Given the description of an element on the screen output the (x, y) to click on. 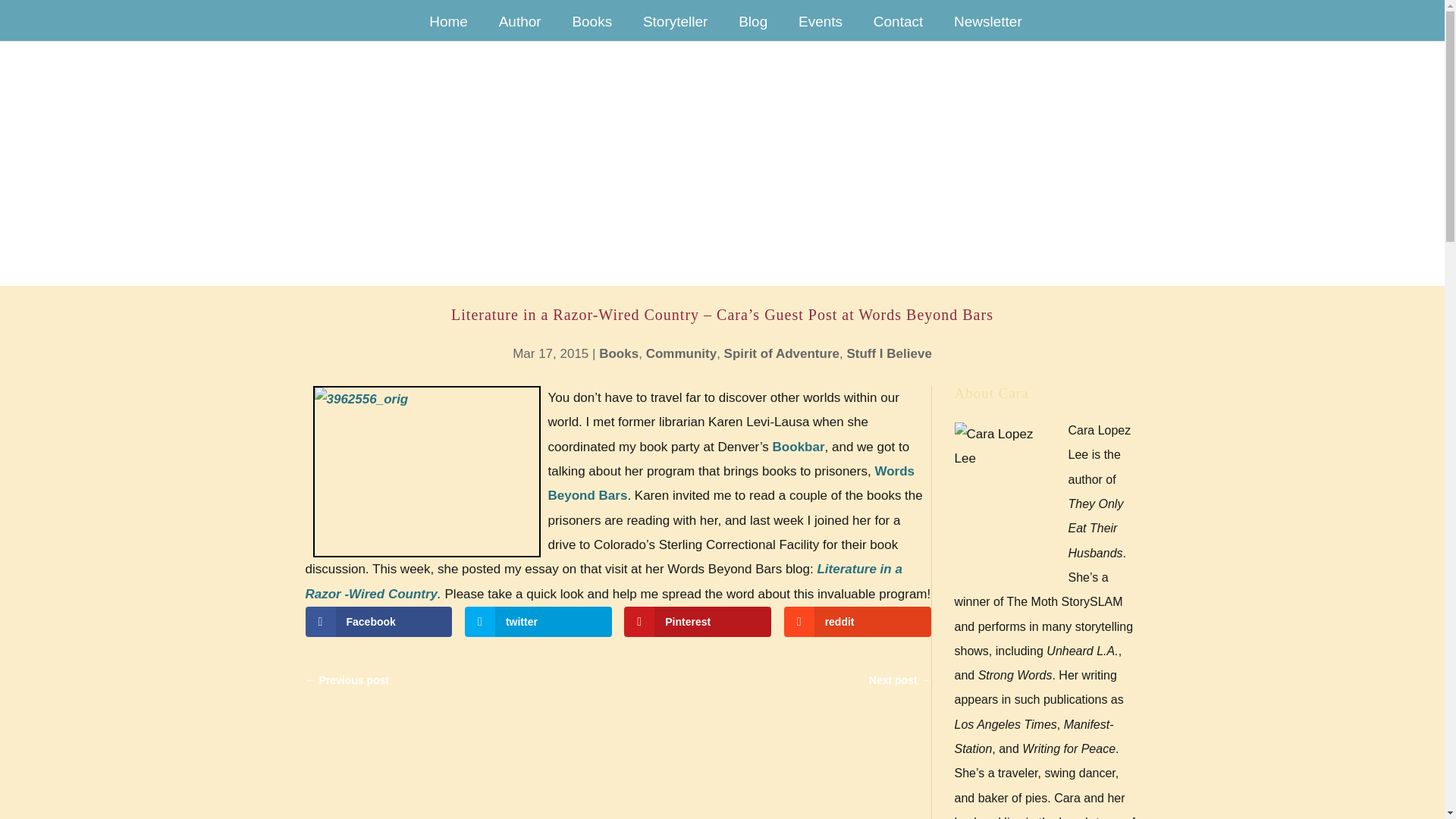
Newsletter (988, 28)
Books (618, 353)
Spirit of Adventure (781, 353)
Literature in a Razor -Wired Country (602, 580)
Pinterest (697, 621)
Words Beyond Bars (730, 483)
Author (520, 28)
Books (591, 28)
reddit (857, 621)
Home (448, 28)
Contact (898, 28)
Facebook (377, 621)
Blog (753, 28)
Community (681, 353)
Storyteller (675, 28)
